Given the description of an element on the screen output the (x, y) to click on. 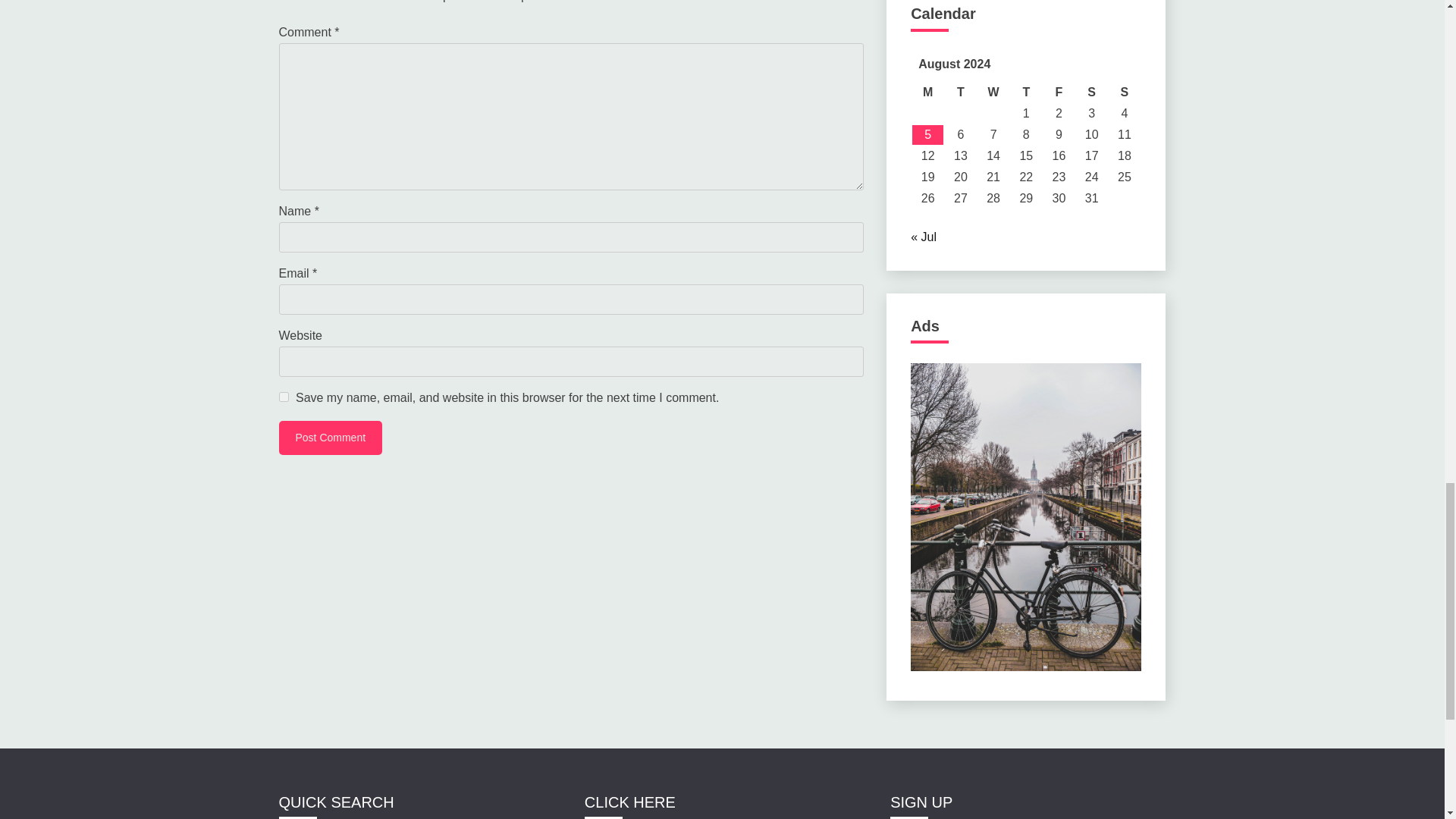
Wednesday (993, 92)
Saturday (1090, 92)
Monday (927, 92)
Sunday (1124, 92)
Thursday (1026, 92)
Friday (1058, 92)
Post Comment (330, 437)
Tuesday (959, 92)
Post Comment (330, 437)
yes (283, 397)
